Given the description of an element on the screen output the (x, y) to click on. 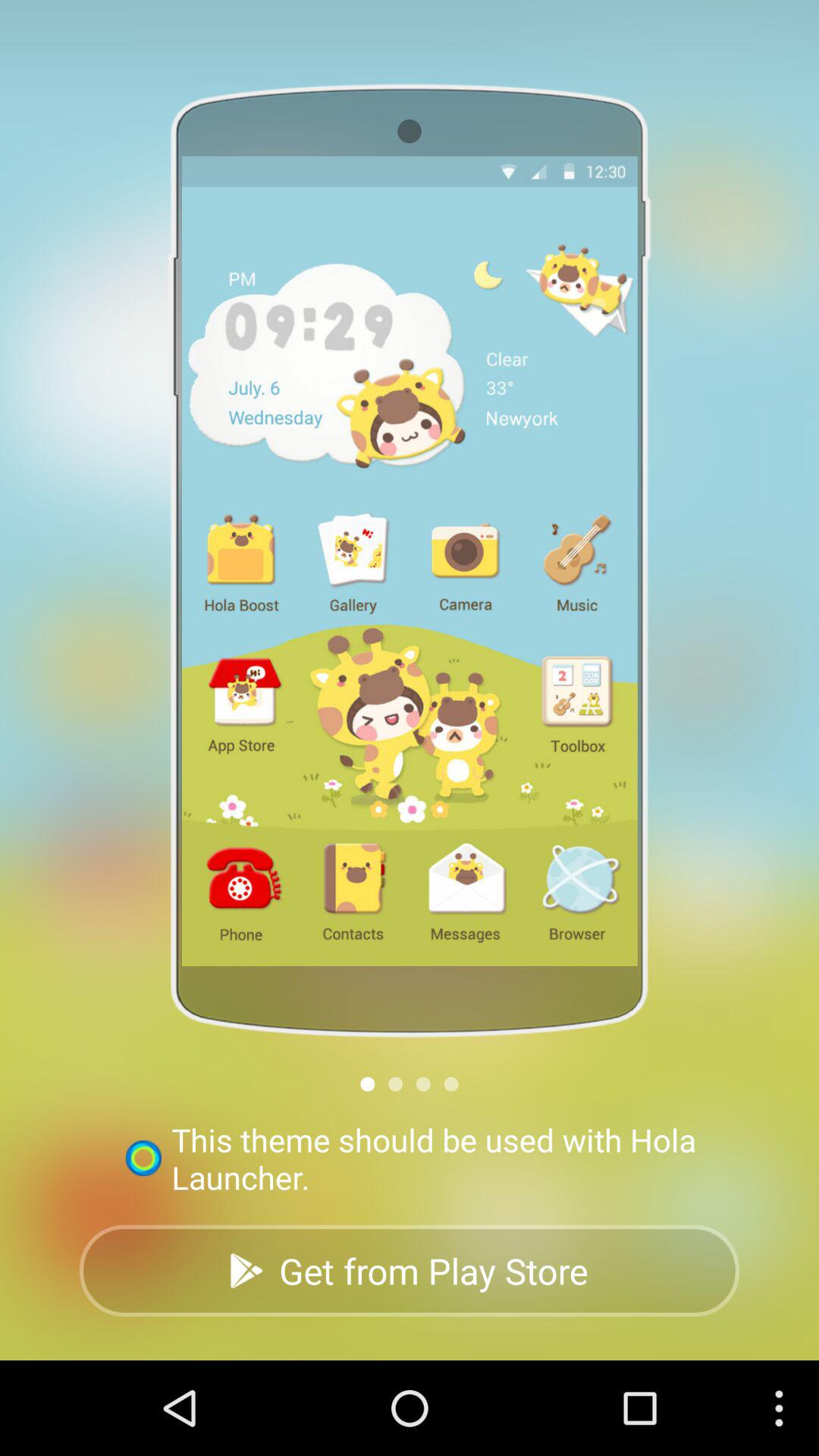
go to fourth option (451, 1084)
